Given the description of an element on the screen output the (x, y) to click on. 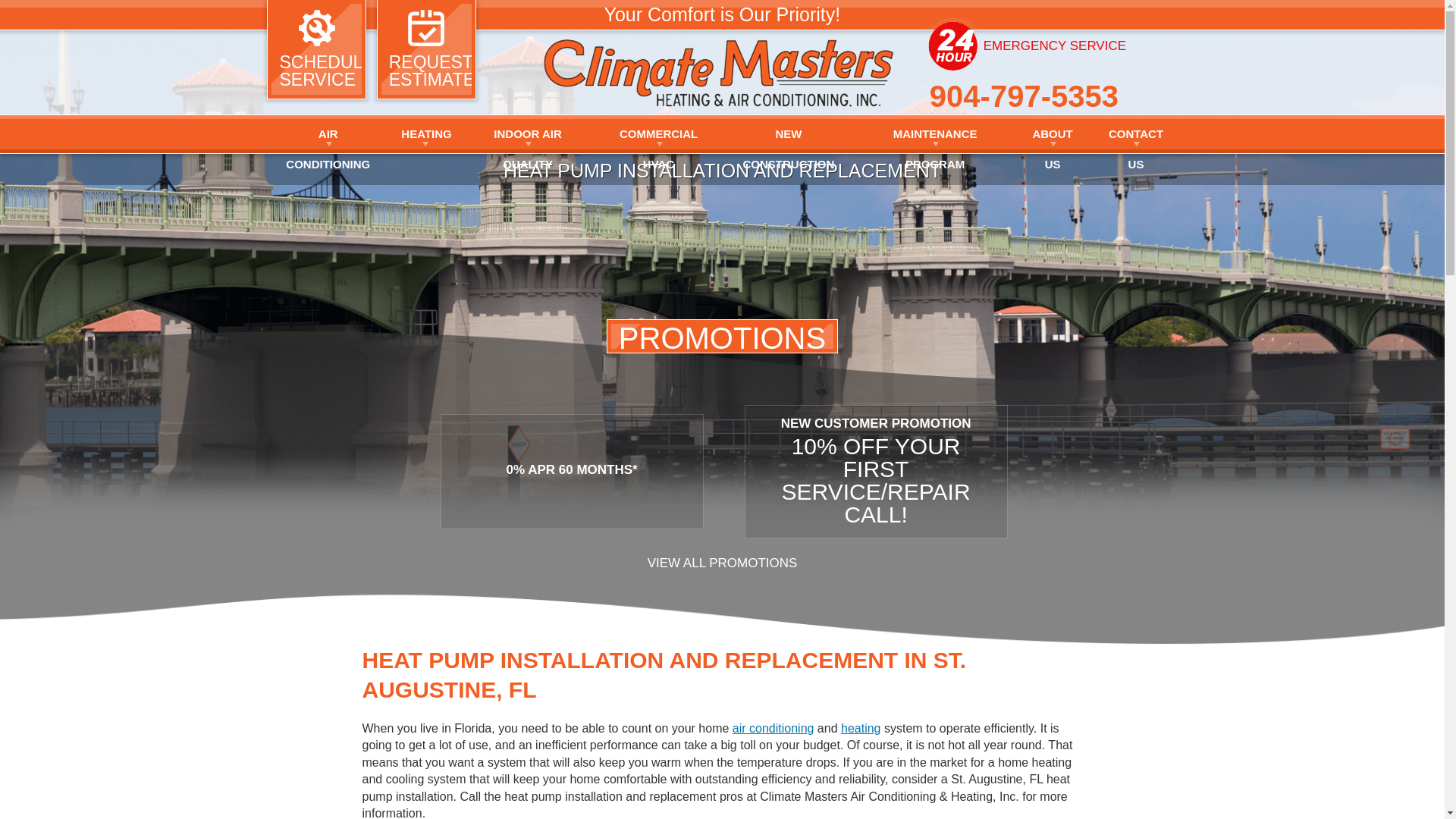
SCHEDULE SERVICE (316, 49)
COMMERCIAL HVAC (657, 133)
HEATING (425, 133)
INDOOR AIR QUALITY (528, 133)
REQUEST ESTIMATE (426, 49)
904-797-5353 (1024, 96)
AIR CONDITIONING (328, 133)
